Given the description of an element on the screen output the (x, y) to click on. 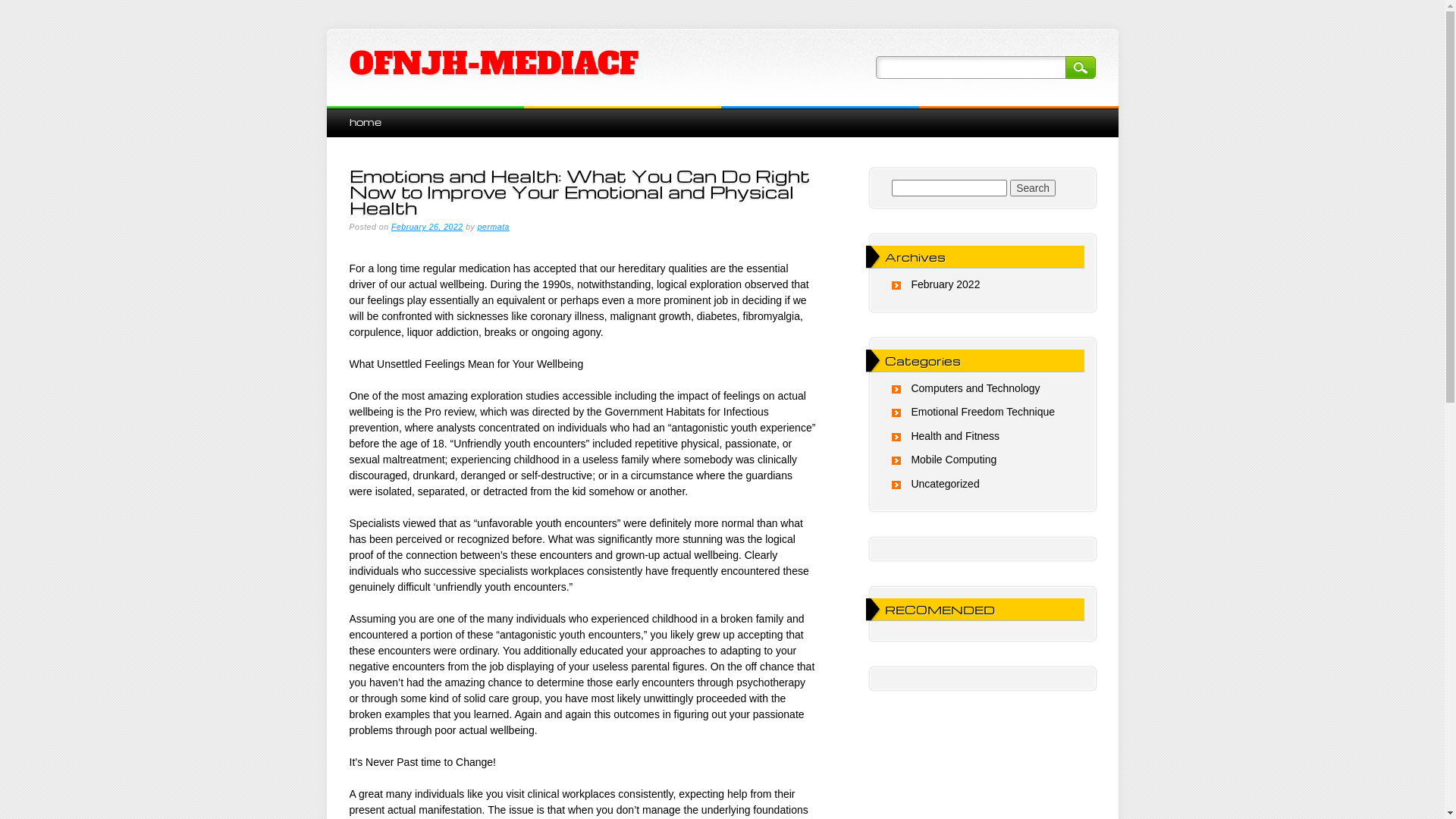
Health and Fitness Element type: text (954, 435)
Uncategorized Element type: text (944, 483)
home Element type: text (364, 121)
Computers and Technology Element type: text (974, 388)
February 26, 2022 Element type: text (427, 226)
OFNJH-MEDIACF Element type: text (492, 63)
permata Element type: text (493, 226)
Emotional Freedom Technique Element type: text (982, 411)
Skip to content Element type: text (361, 113)
Search Element type: text (1079, 67)
Mobile Computing Element type: text (953, 459)
February 2022 Element type: text (944, 284)
Search Element type: text (1032, 187)
